Given the description of an element on the screen output the (x, y) to click on. 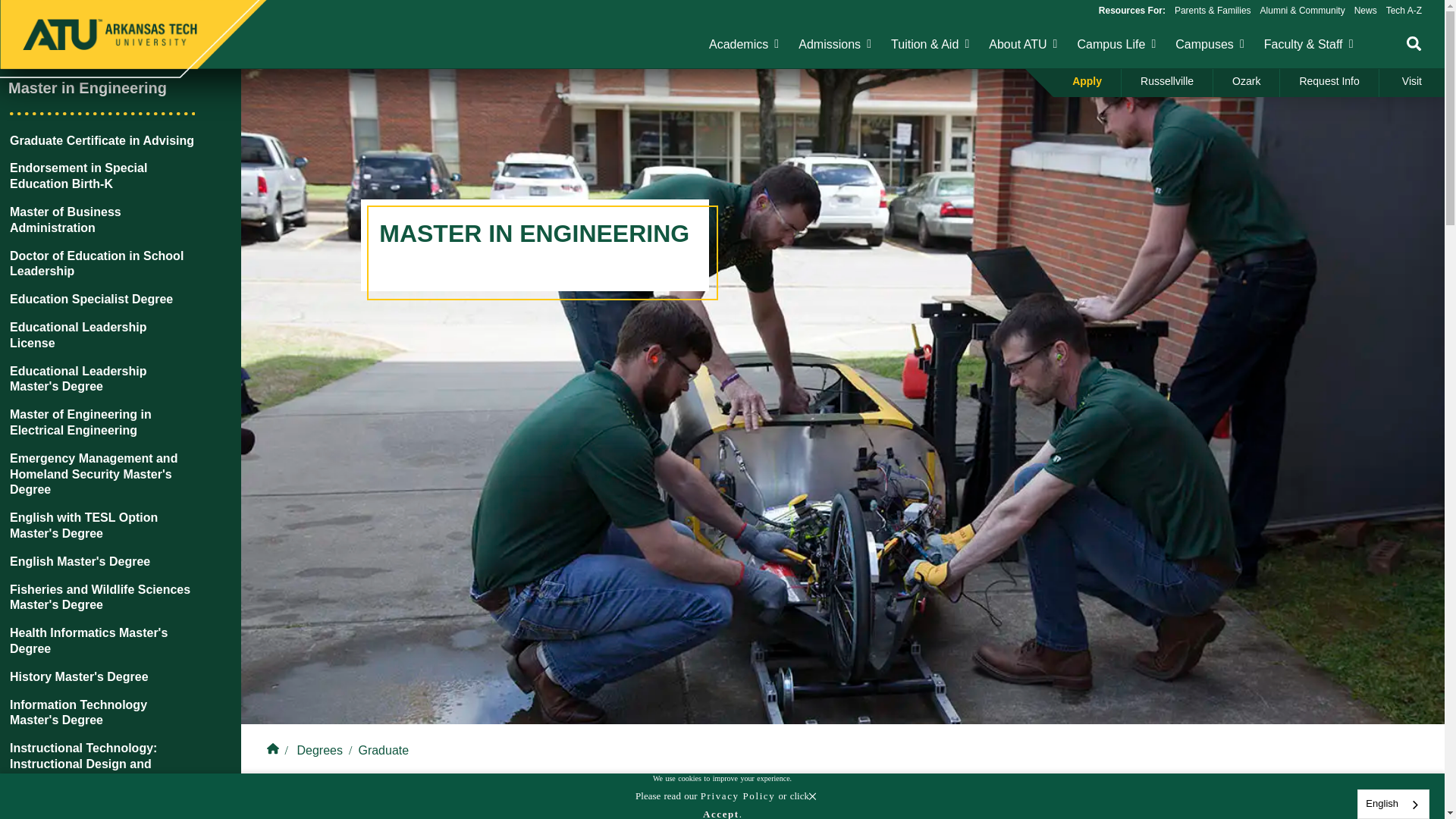
Privacy Policy (738, 796)
Tech A-Z (1404, 9)
Admissions (828, 43)
Accept (721, 812)
About ATU (1017, 43)
Academics (738, 43)
News (1365, 9)
